Given the description of an element on the screen output the (x, y) to click on. 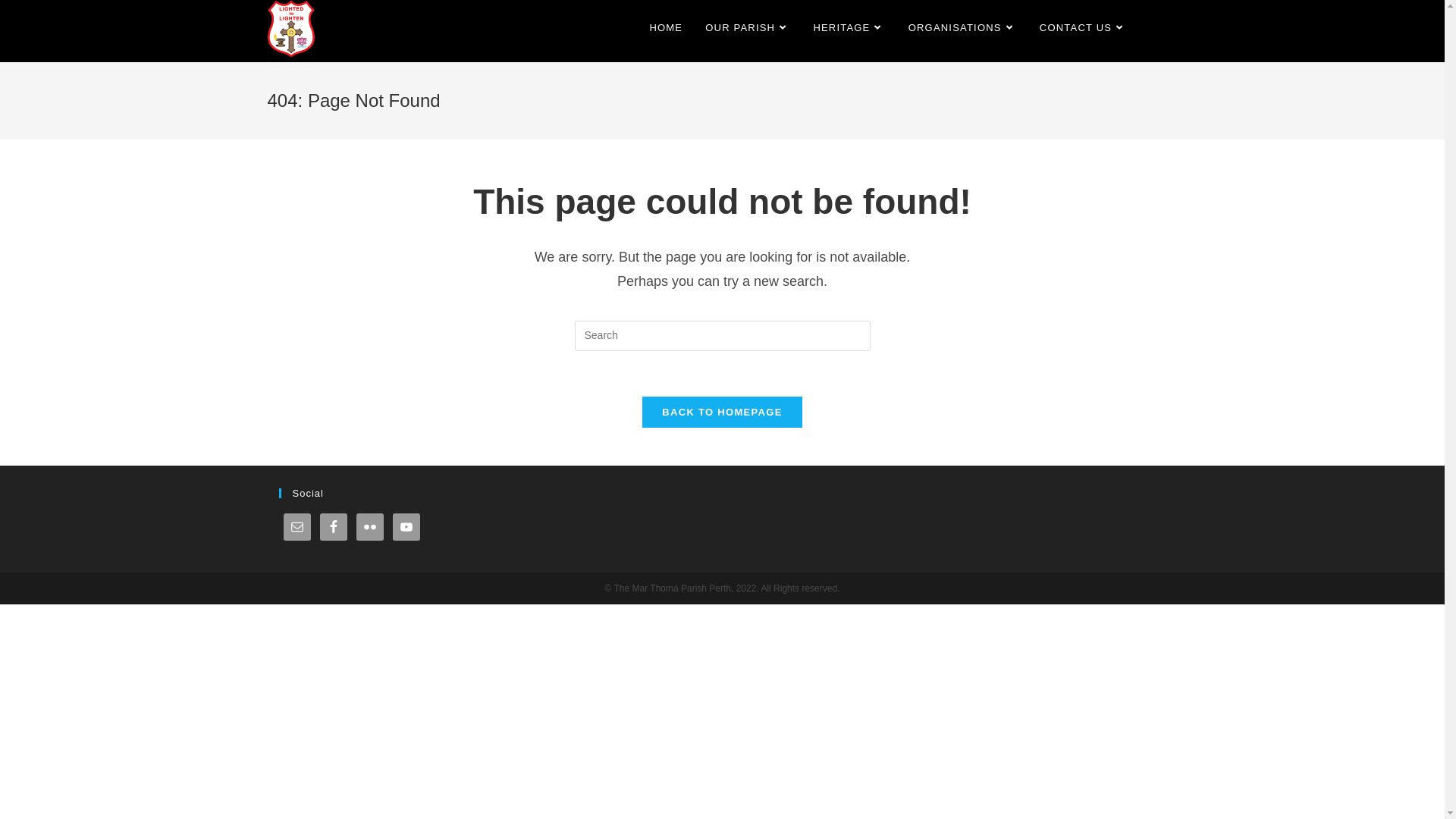
BACK TO HOMEPAGE Element type: text (721, 411)
HERITAGE Element type: text (848, 28)
OUR PARISH Element type: text (747, 28)
HOME Element type: text (665, 28)
CONTACT US Element type: text (1083, 28)
ORGANISATIONS Element type: text (962, 28)
